Given the description of an element on the screen output the (x, y) to click on. 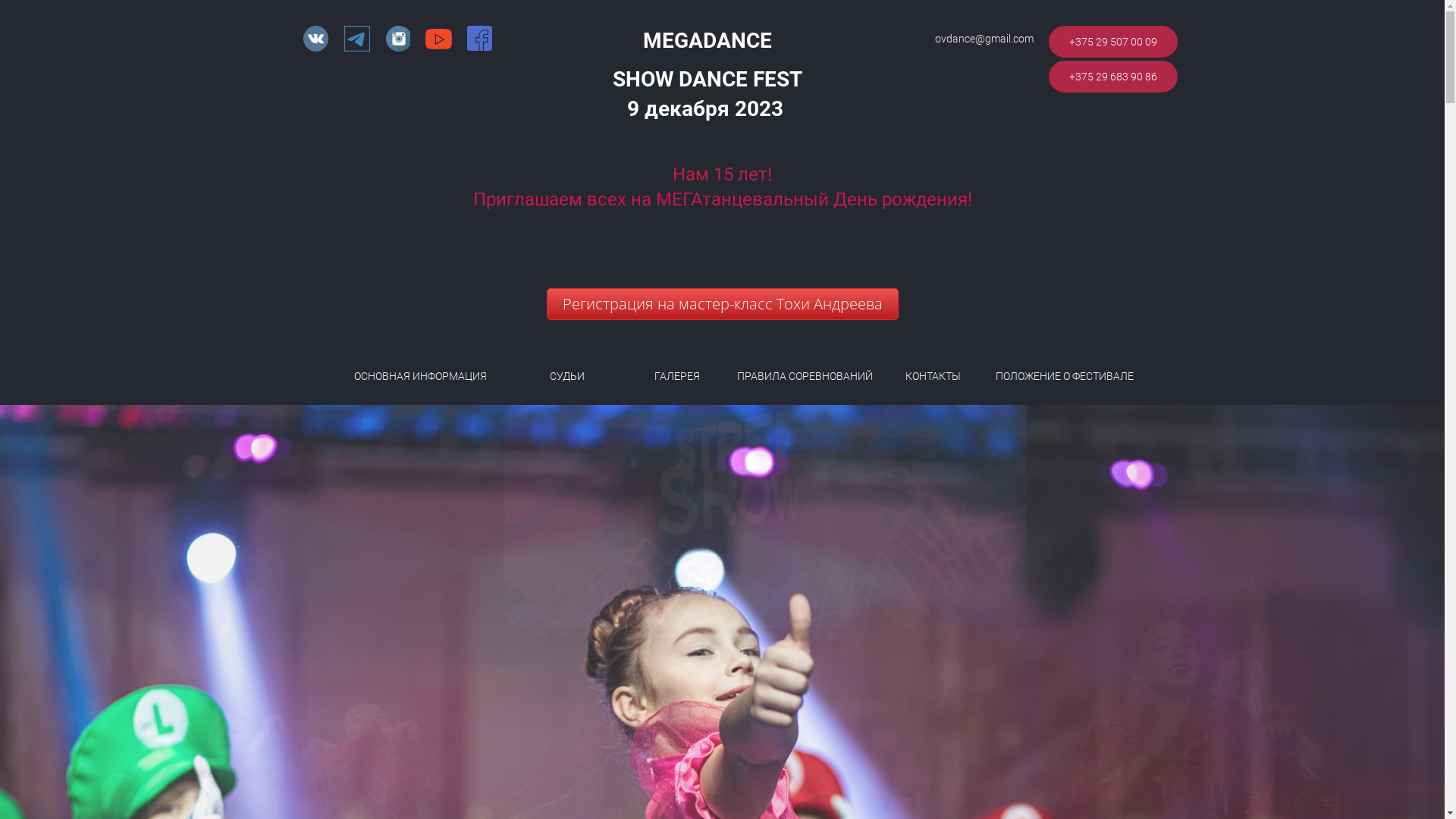
+375 29 683 90 86 Element type: text (1112, 76)
+375 29 507 00 09 Element type: text (1112, 41)
